Given the description of an element on the screen output the (x, y) to click on. 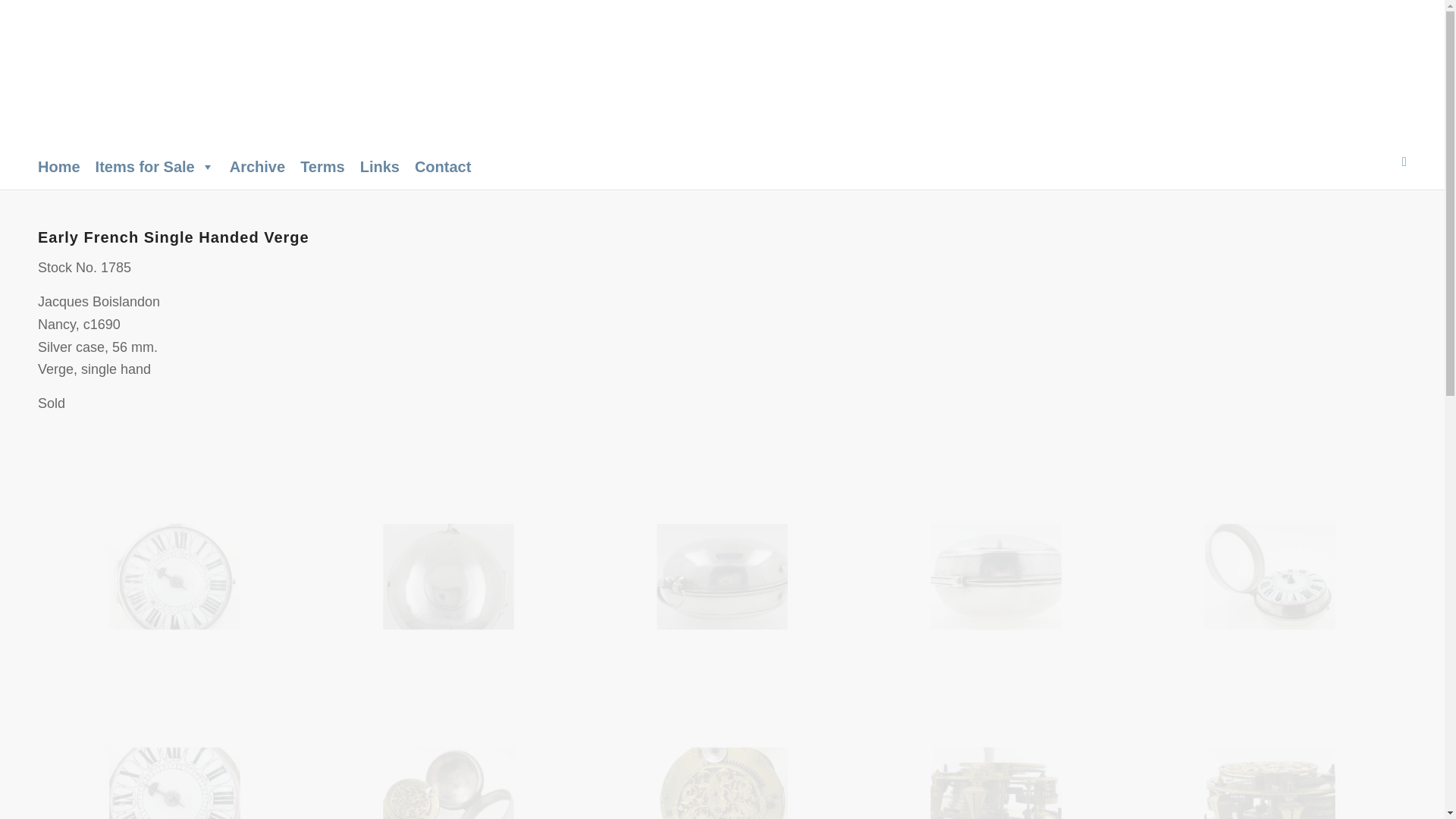
Terms (322, 166)
CogsAndPiecesBanner (265, 75)
Archive (257, 166)
Items for Sale (155, 166)
Home (58, 166)
Contact (442, 166)
Links (378, 166)
